Given the description of an element on the screen output the (x, y) to click on. 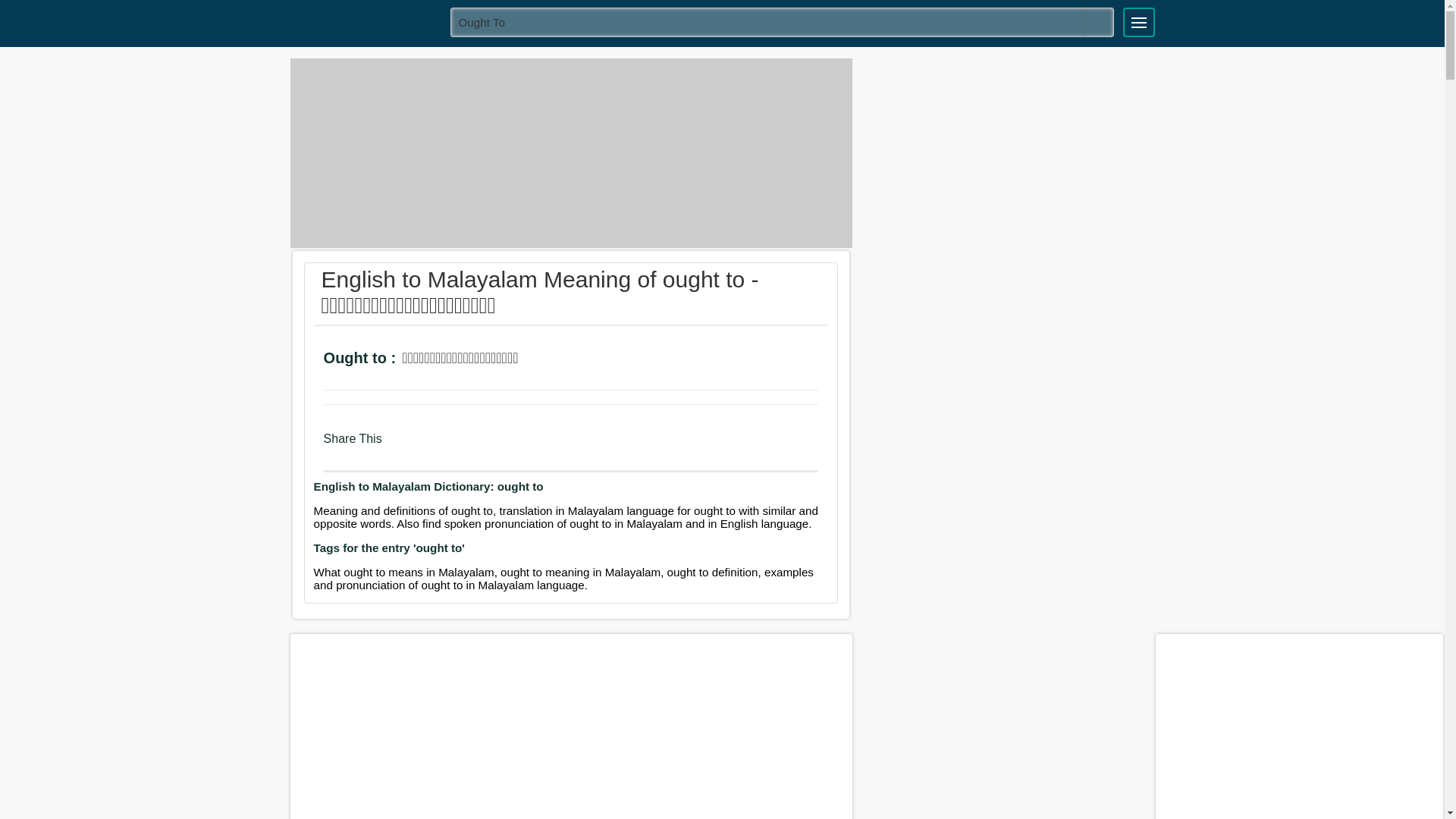
More Share (485, 445)
Facebook (398, 445)
MALAYALAM (365, 20)
ought to (782, 21)
Add To Favorites (585, 360)
Say The Word (544, 360)
Twitter (428, 445)
Linkedin (458, 445)
Search (1098, 22)
